Given the description of an element on the screen output the (x, y) to click on. 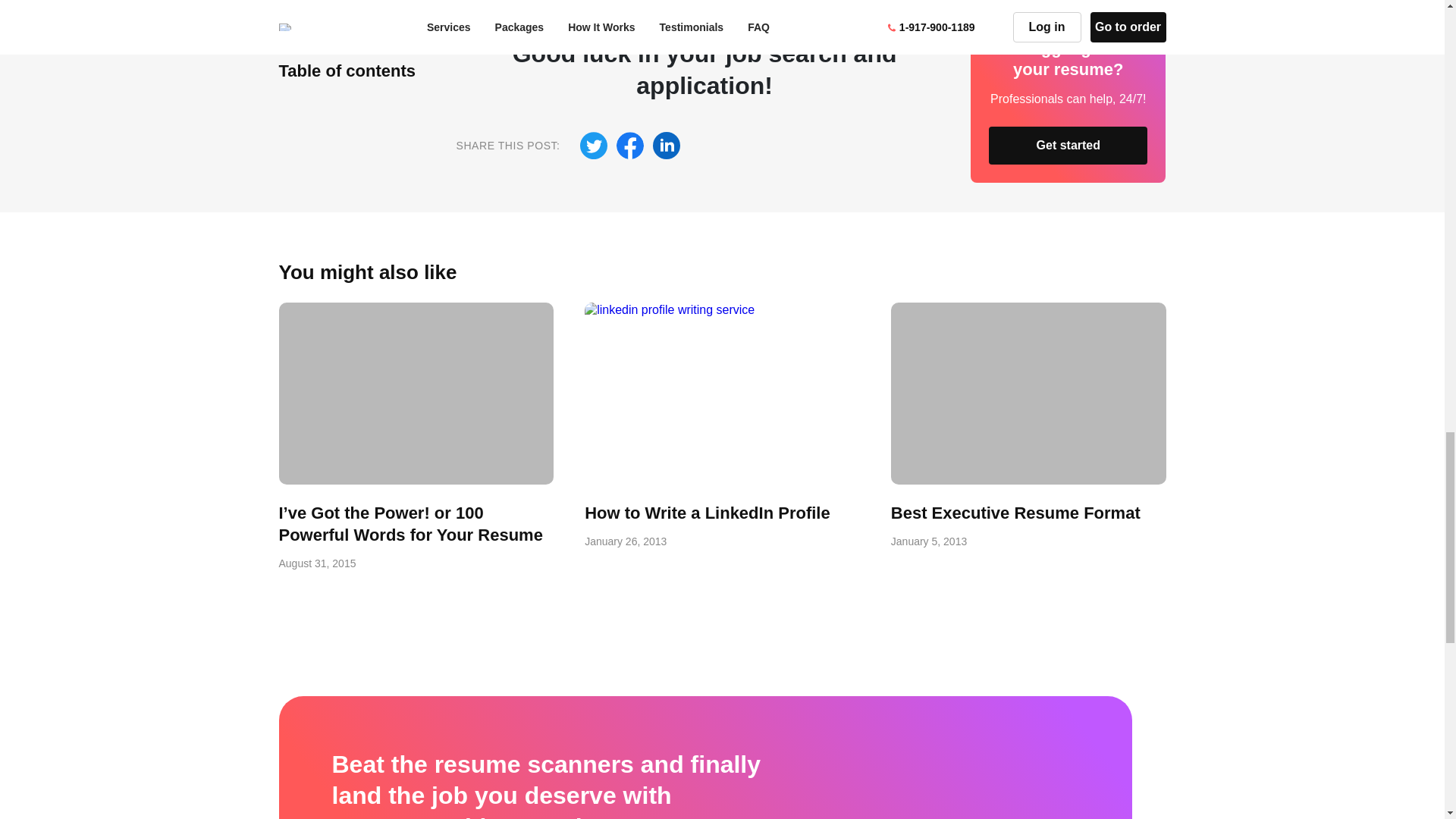
Resume Writing Service (626, 12)
Turn to professioanls - Turn to Resume Writing Service! (722, 425)
